Given the description of an element on the screen output the (x, y) to click on. 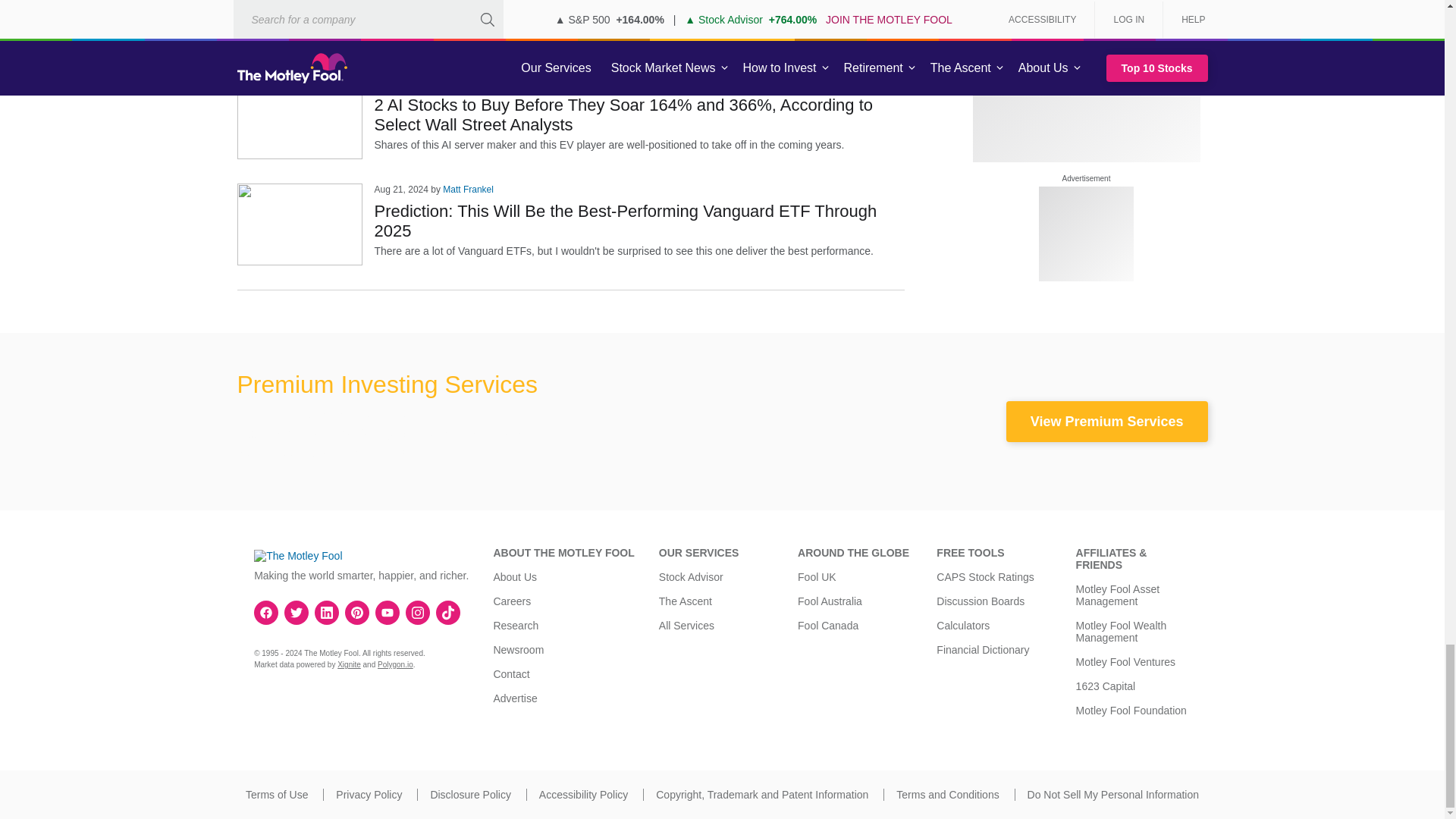
Accessibility Policy (582, 794)
Copyright, Trademark and Patent Information (761, 794)
Terms of Use (276, 794)
Do Not Sell My Personal Information. (1112, 794)
Disclosure Policy (470, 794)
Terms and Conditions (947, 794)
Privacy Policy (368, 794)
